Given the description of an element on the screen output the (x, y) to click on. 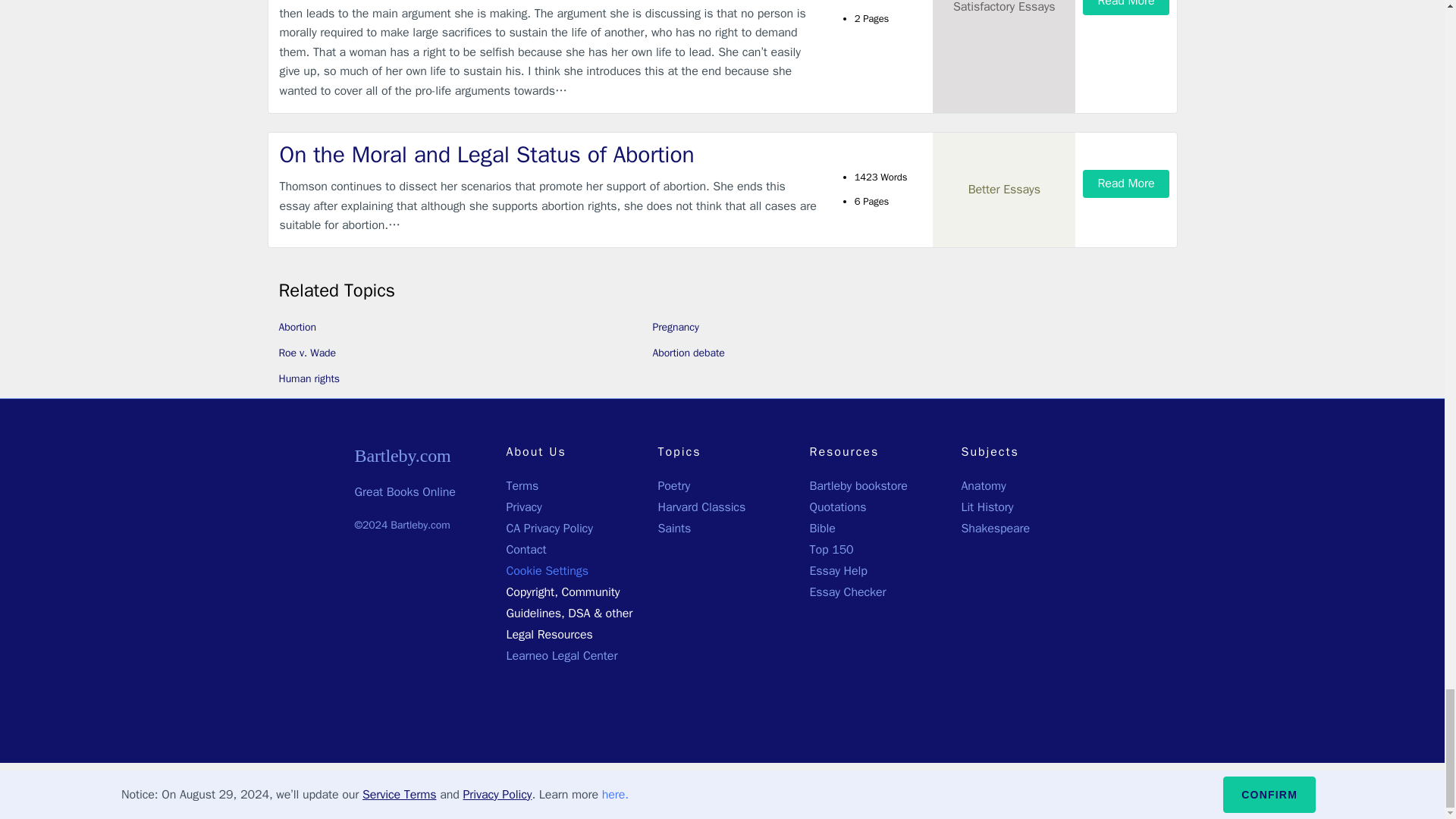
Roe v. Wade (307, 352)
Abortion debate (687, 352)
Abortion (298, 327)
Pregnancy (675, 327)
Human rights (309, 378)
